Given the description of an element on the screen output the (x, y) to click on. 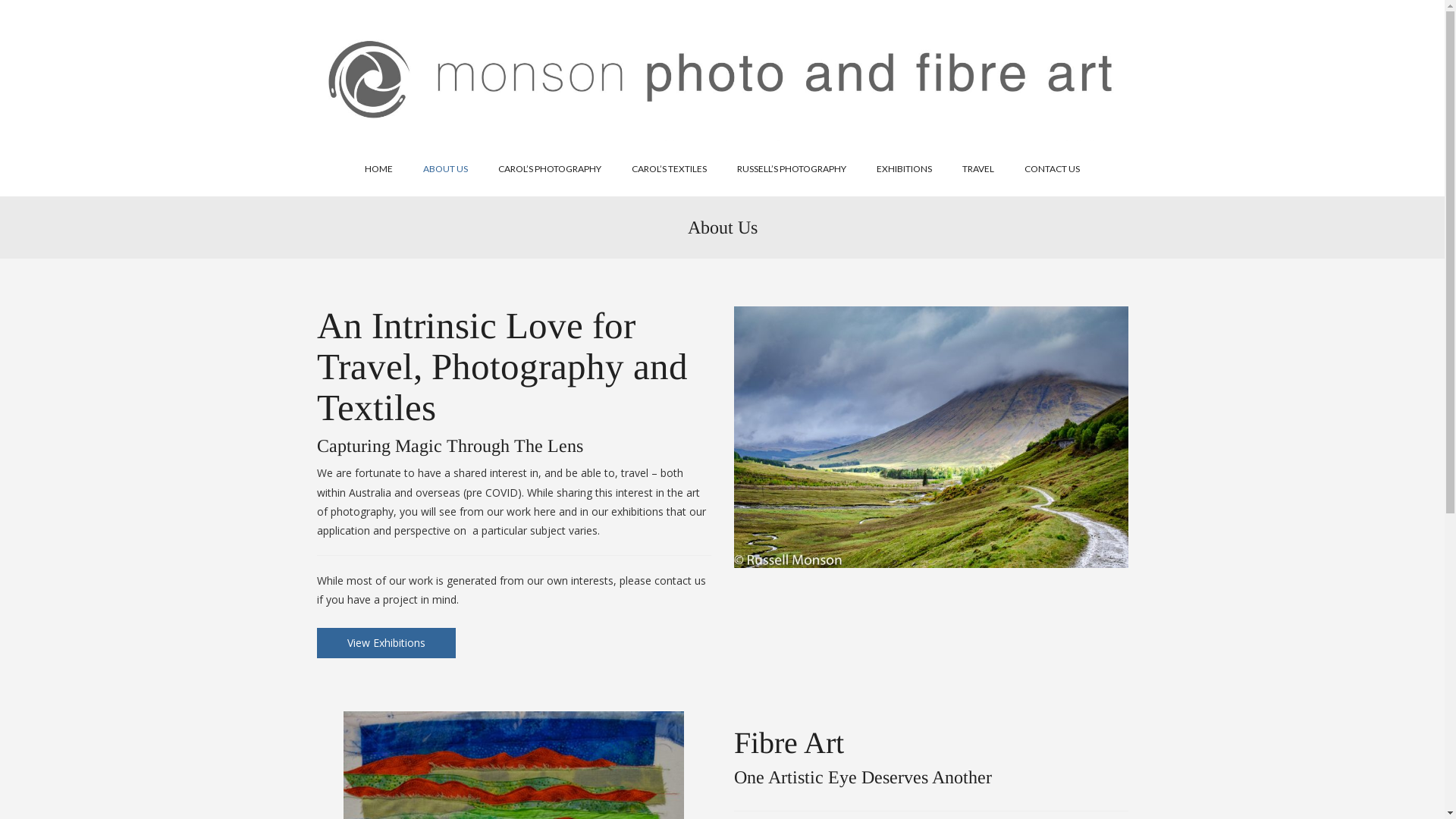
TRAVEL Element type: text (978, 168)
ABOUT US Element type: text (445, 168)
CONTACT US Element type: text (1052, 168)
View Exhibitions Element type: text (385, 642)
HOME Element type: text (378, 168)
EXHIBITIONS Element type: text (904, 168)
